Given the description of an element on the screen output the (x, y) to click on. 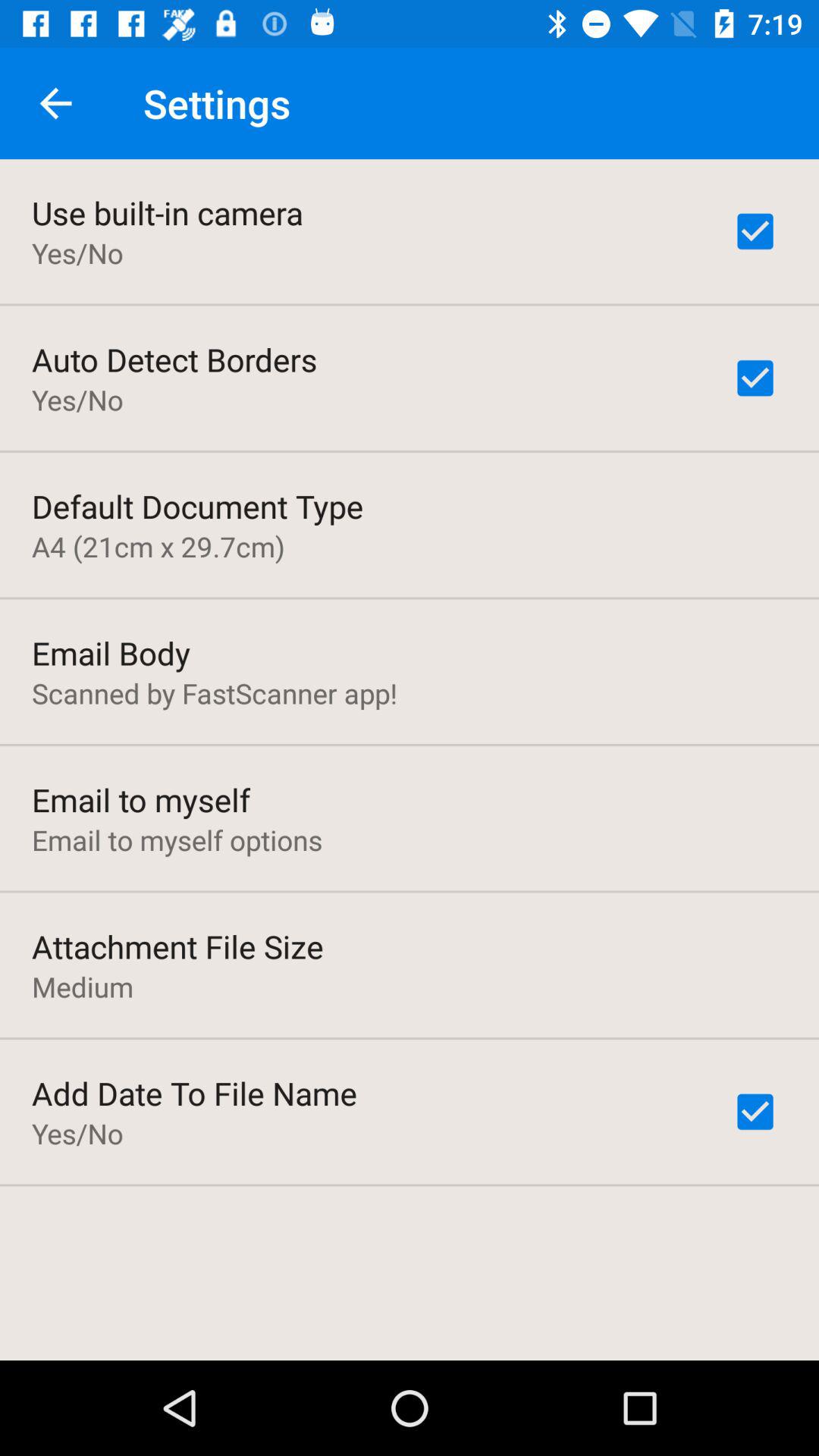
choose the item below the yes/no icon (174, 359)
